Given the description of an element on the screen output the (x, y) to click on. 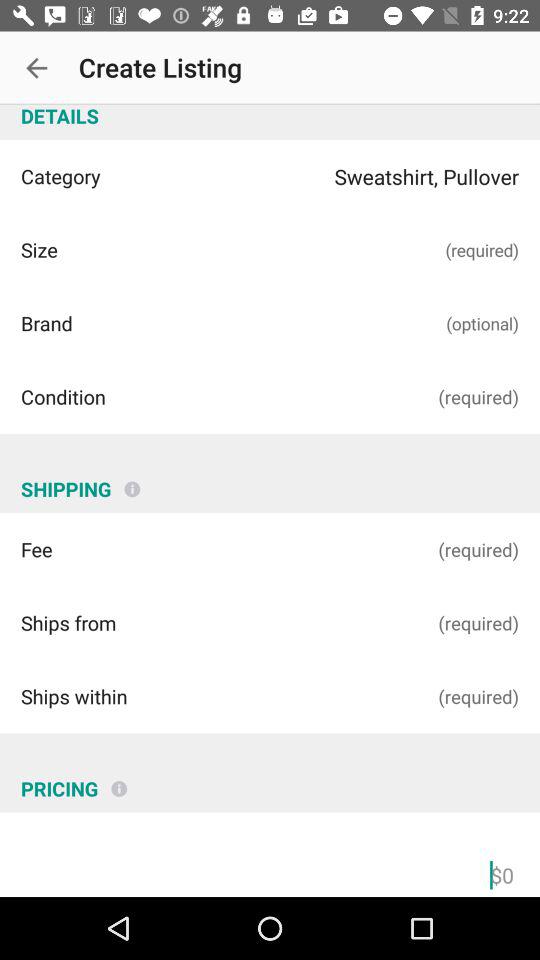
press icon below ships within item (119, 781)
